Given the description of an element on the screen output the (x, y) to click on. 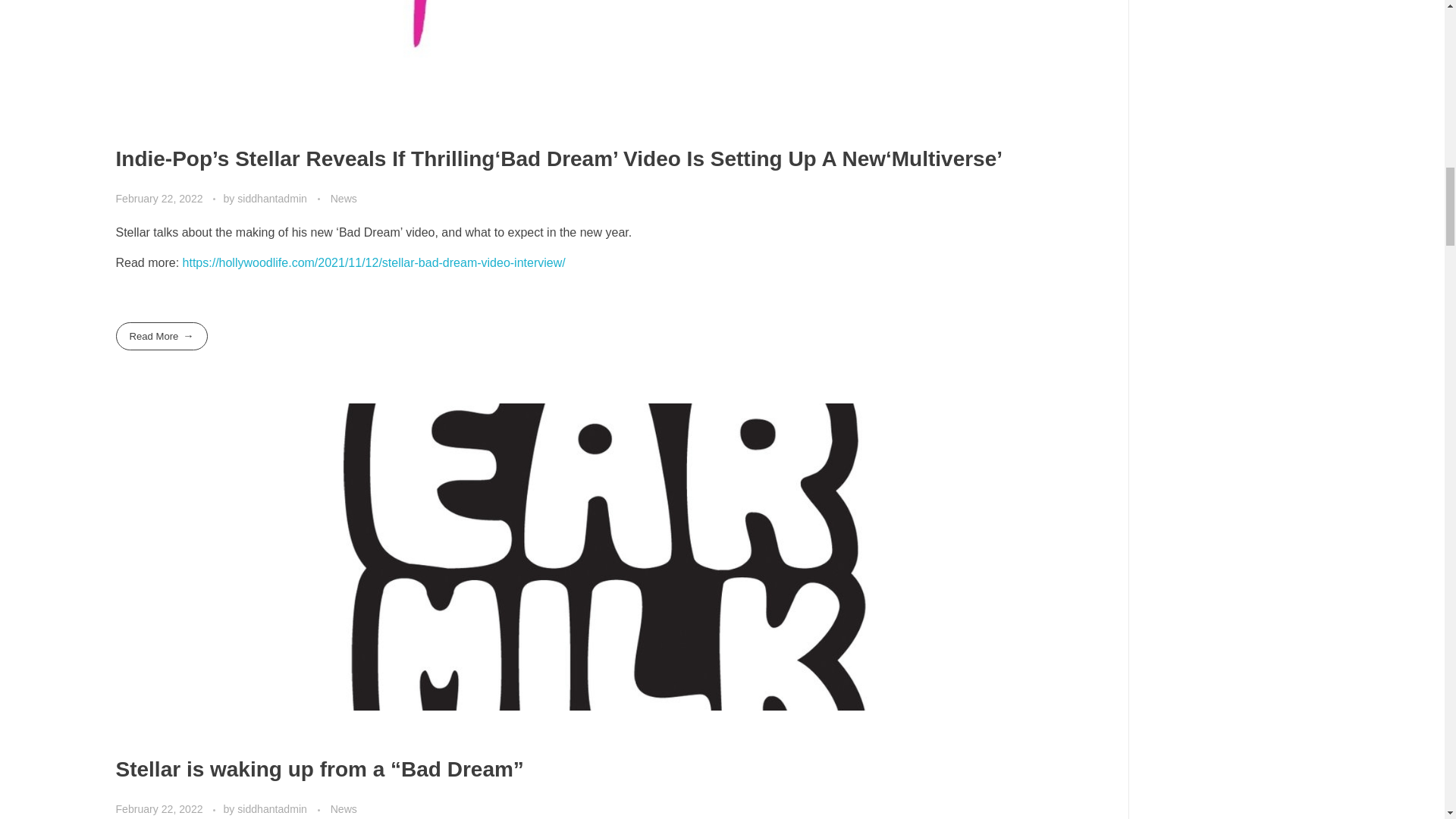
News (343, 809)
News (343, 198)
February 22, 2022 (160, 198)
siddhantadmin (272, 808)
View all posts by siddhantadmin (272, 808)
siddhantadmin (272, 198)
February 22, 2022 (160, 808)
View all posts by siddhantadmin (272, 198)
View all posts in News (343, 809)
Read More (160, 336)
